Given the description of an element on the screen output the (x, y) to click on. 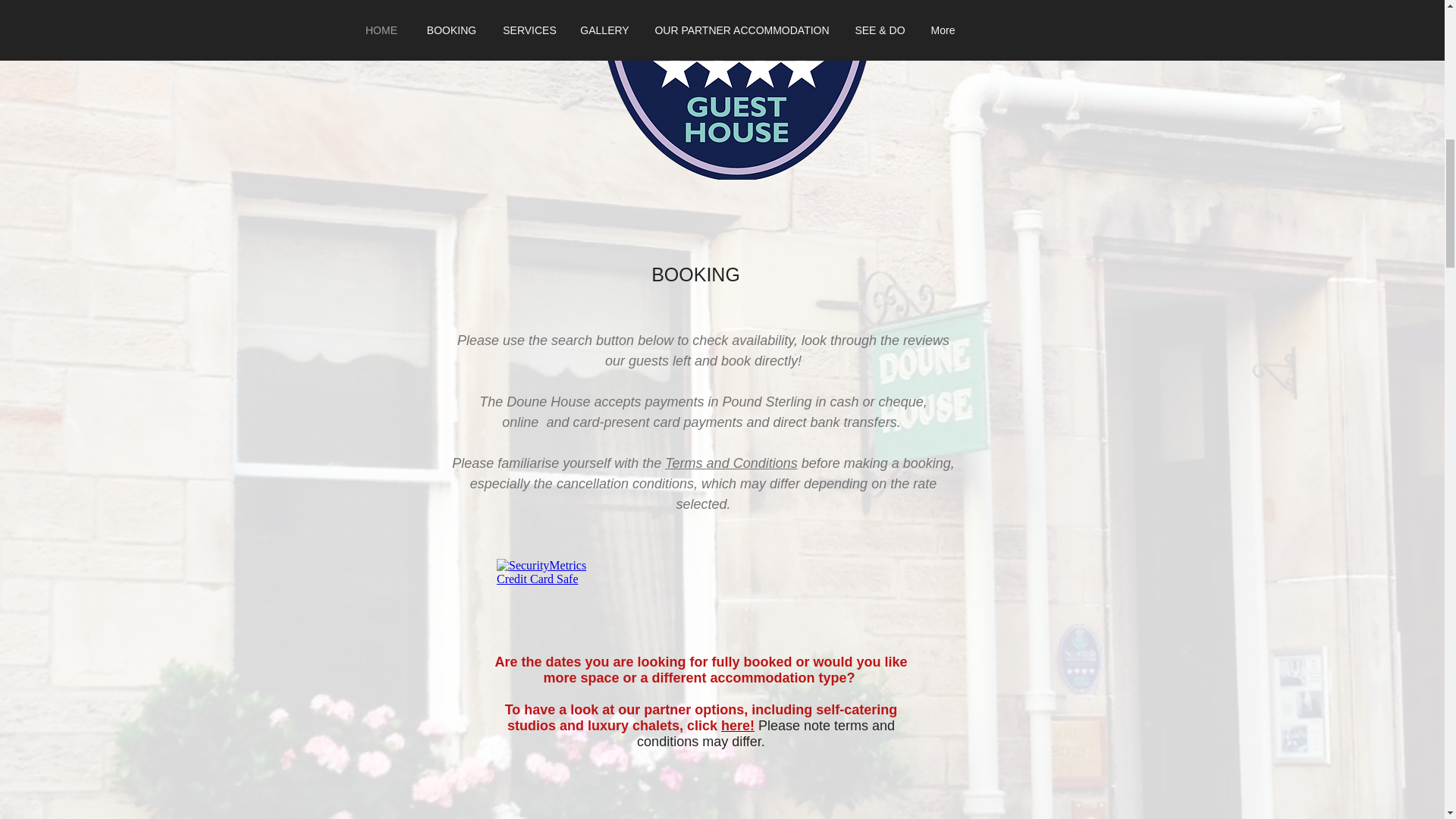
Embedded Content (553, 590)
Please note terms and conditions may differ. (766, 733)
Embedded Content (739, 631)
Terms and Conditions (730, 462)
here! (737, 725)
